Given the description of an element on the screen output the (x, y) to click on. 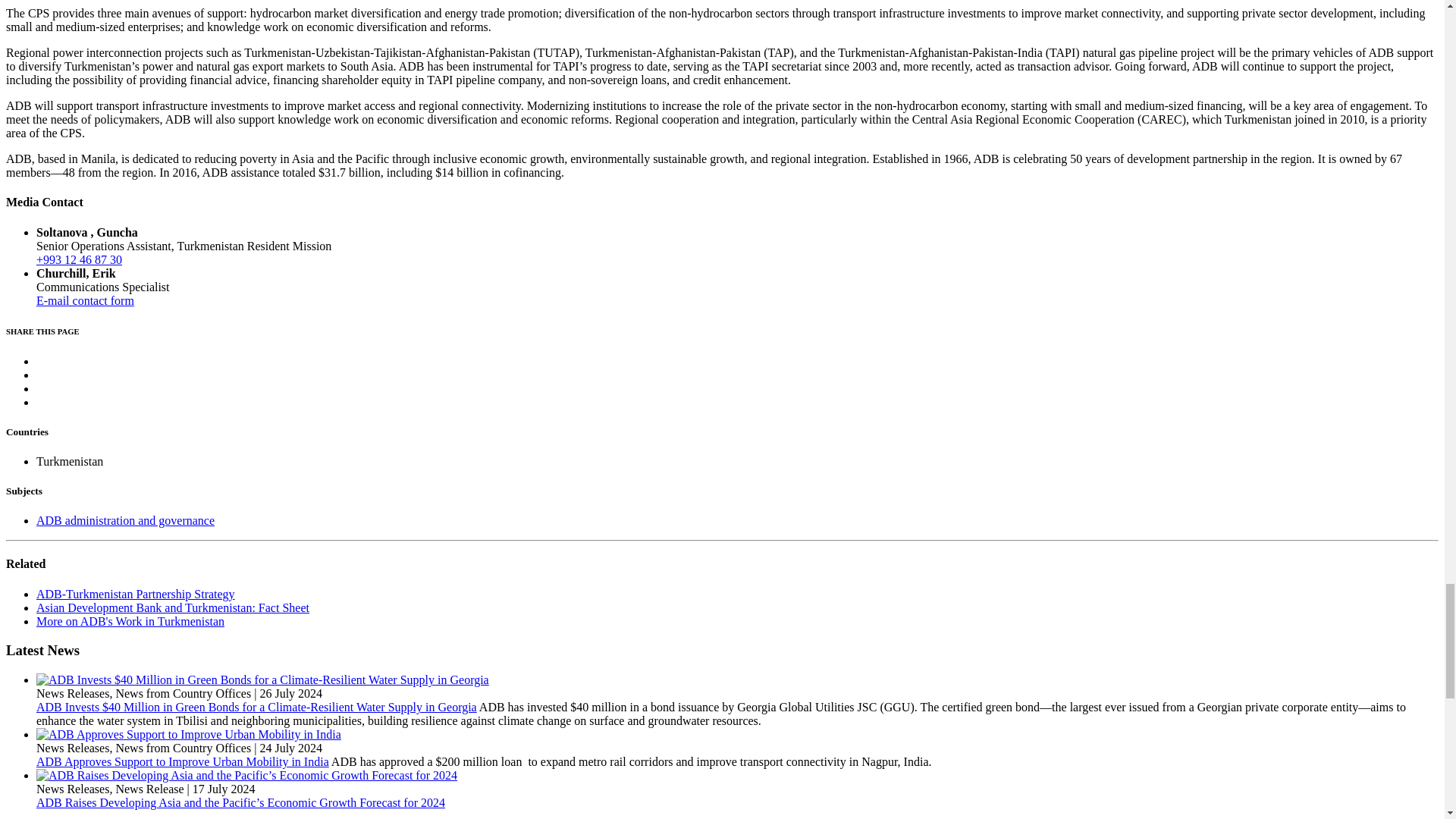
ADB Approves Support to Improve Urban Mobility in India (188, 735)
